Given the description of an element on the screen output the (x, y) to click on. 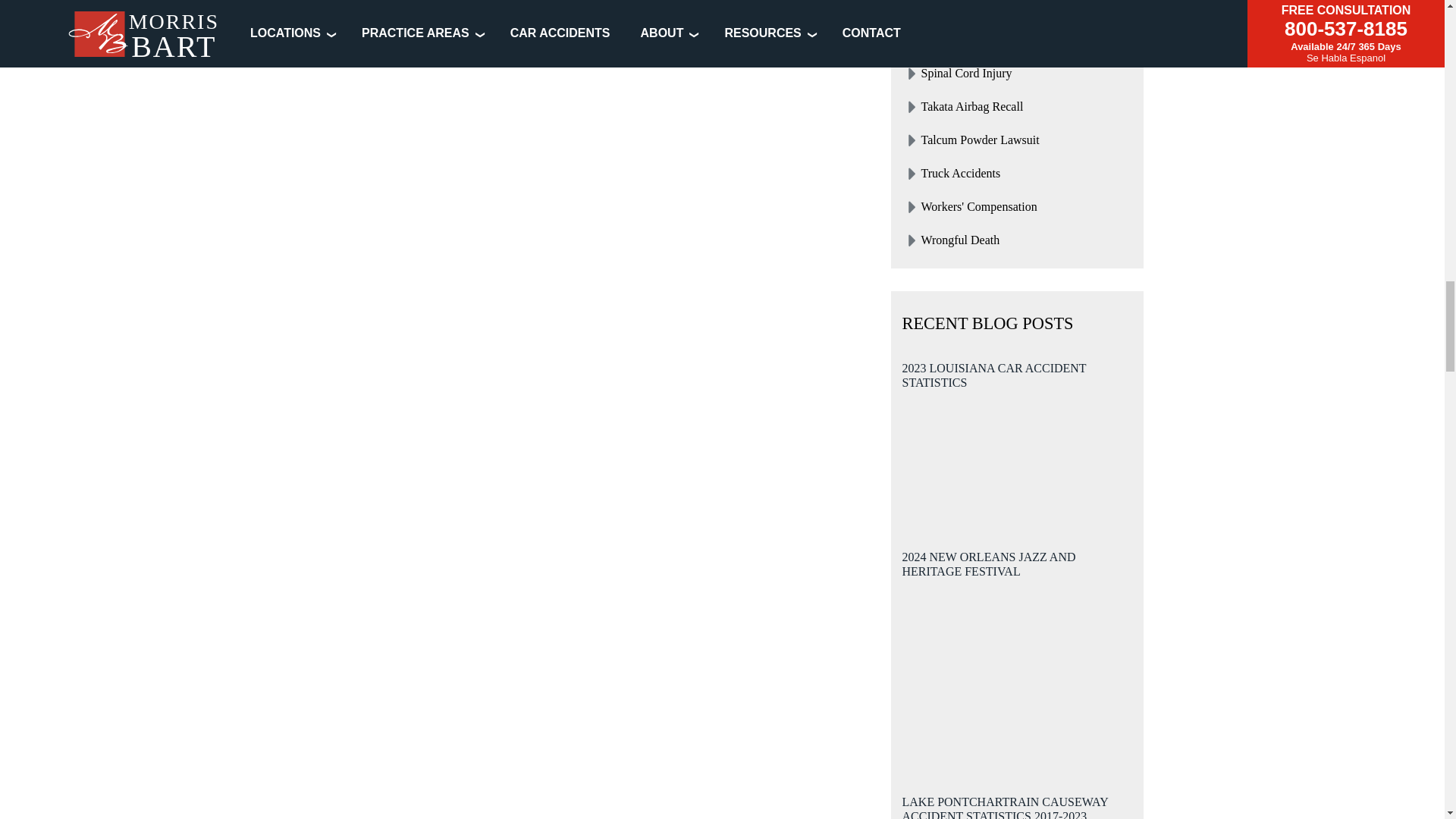
2023 Louisiana Car Accident Statistics (1017, 432)
2024 New Orleans Jazz and Heritage Festival (1017, 649)
2024 New Orleans Jazz and Heritage Festival (1015, 674)
2023 Louisiana Car Accident Statistics (1015, 458)
